Given the description of an element on the screen output the (x, y) to click on. 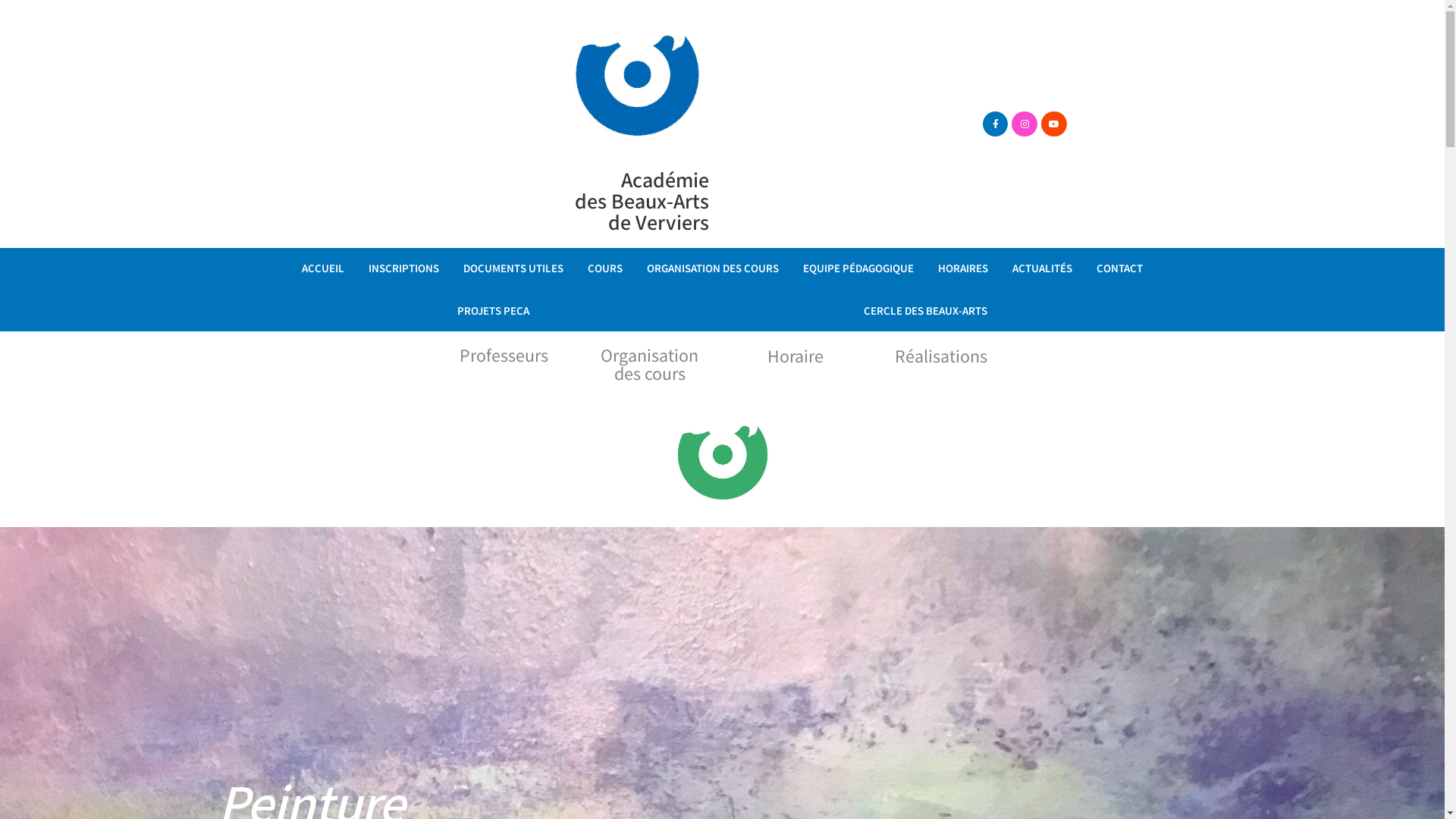
ACCUEIL Element type: text (322, 268)
INSCRIPTIONS Element type: text (403, 268)
COURS Element type: text (604, 268)
CONTACT Element type: text (1119, 268)
Organisation des cours Element type: text (649, 365)
CERCLE DES BEAUX-ARTS Element type: text (925, 311)
Professeurs Element type: text (504, 356)
Horaire Element type: text (794, 356)
DOCUMENTS UTILES Element type: text (513, 268)
ORGANISATION DES COURS Element type: text (712, 268)
HORAIRES Element type: text (962, 268)
PROJETS PECA Element type: text (492, 311)
